Given the description of an element on the screen output the (x, y) to click on. 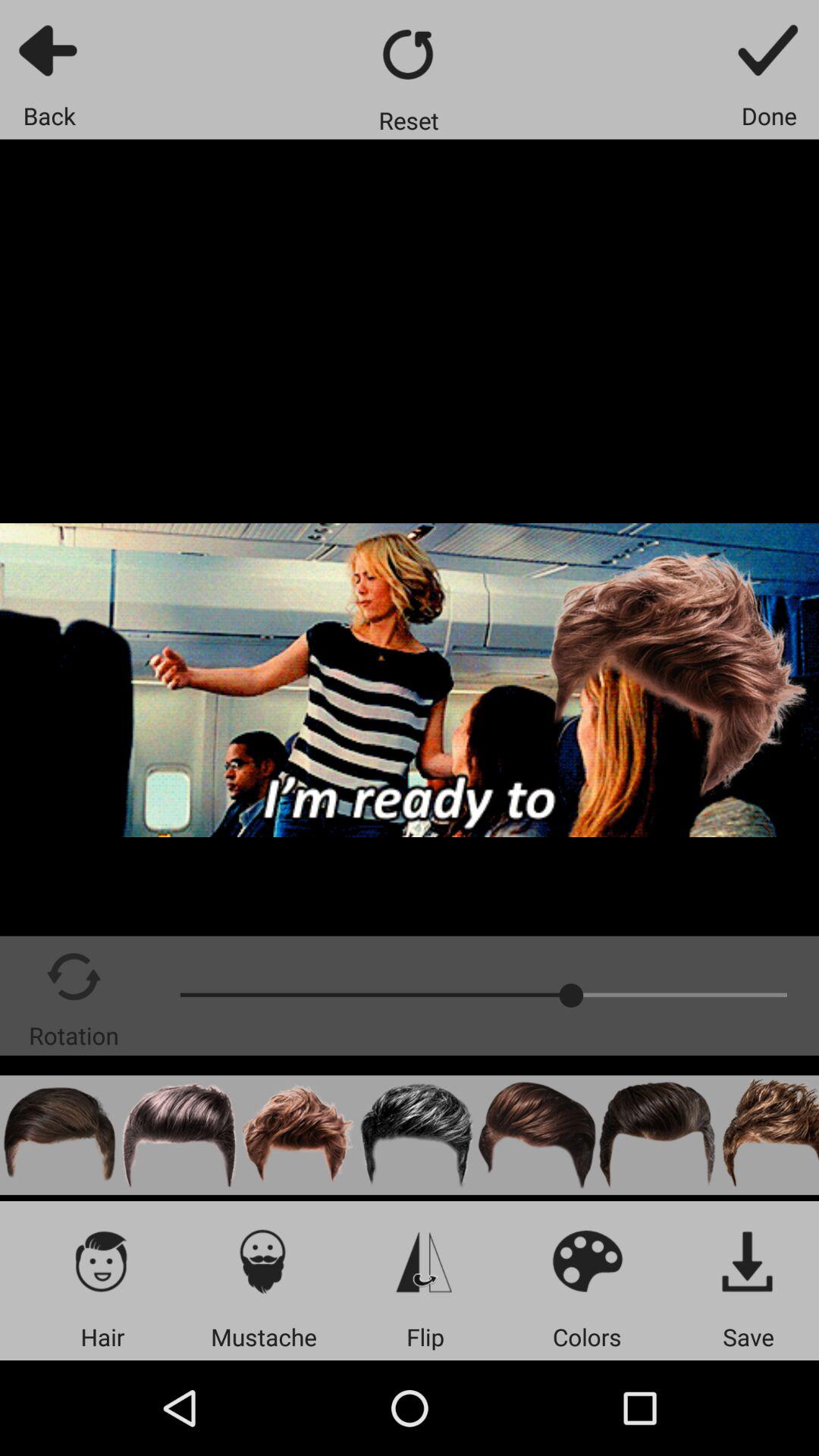
select hair type (102, 1260)
